Given the description of an element on the screen output the (x, y) to click on. 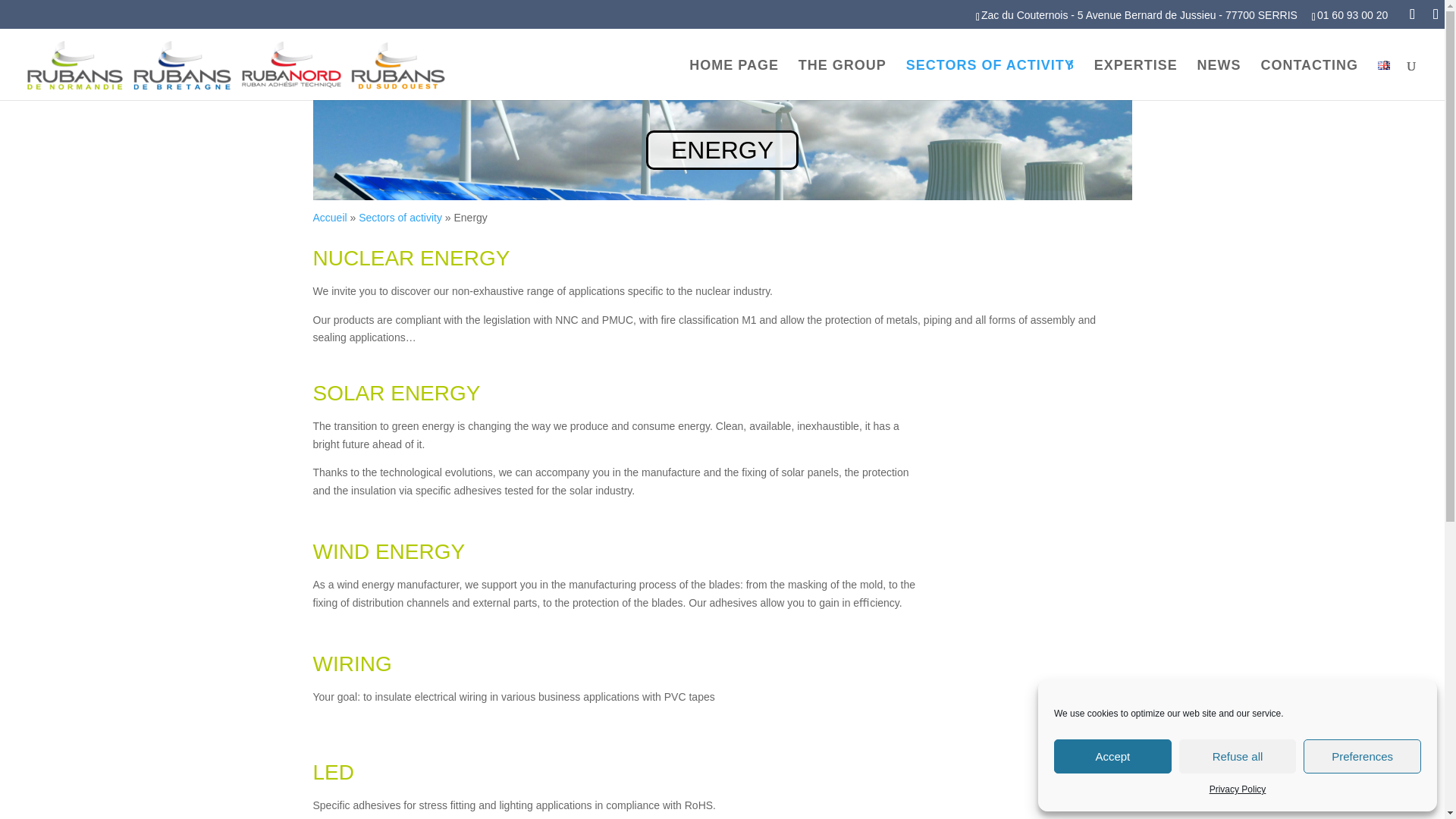
THE GROUP (841, 79)
Accept (1113, 756)
Privacy Policy (1237, 790)
Refuse all (1238, 756)
Preferences (1362, 756)
SECTORS OF ACTIVITY (989, 79)
HOME PAGE (733, 79)
